Given the description of an element on the screen output the (x, y) to click on. 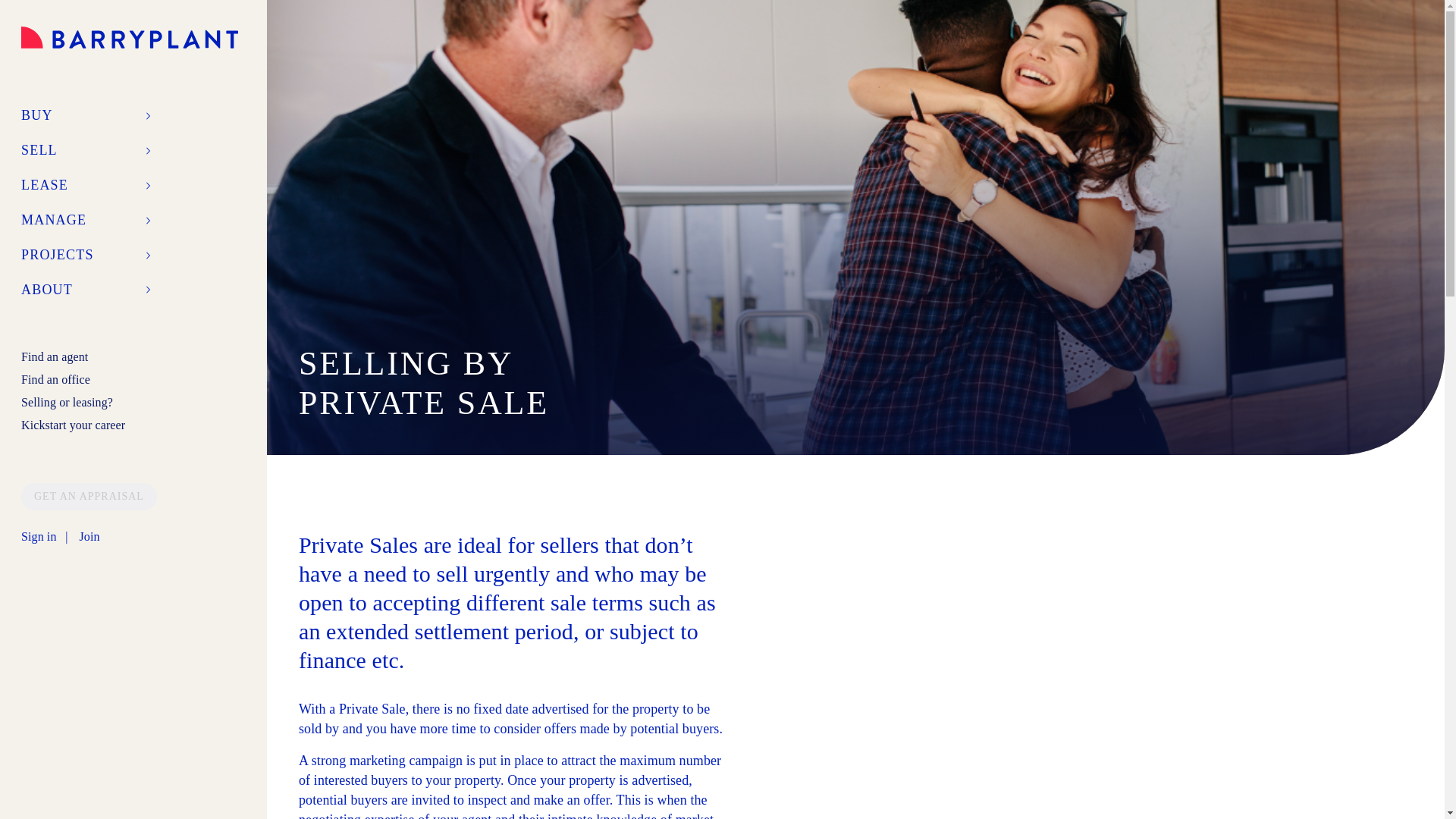
Find an agent (54, 356)
Sign in (38, 536)
Join (88, 536)
Selling or leasing? (67, 401)
Kickstart your career (73, 424)
GET AN APPRAISAL (89, 496)
GET AN APPRAISAL (89, 495)
Find an office (55, 379)
